Given the description of an element on the screen output the (x, y) to click on. 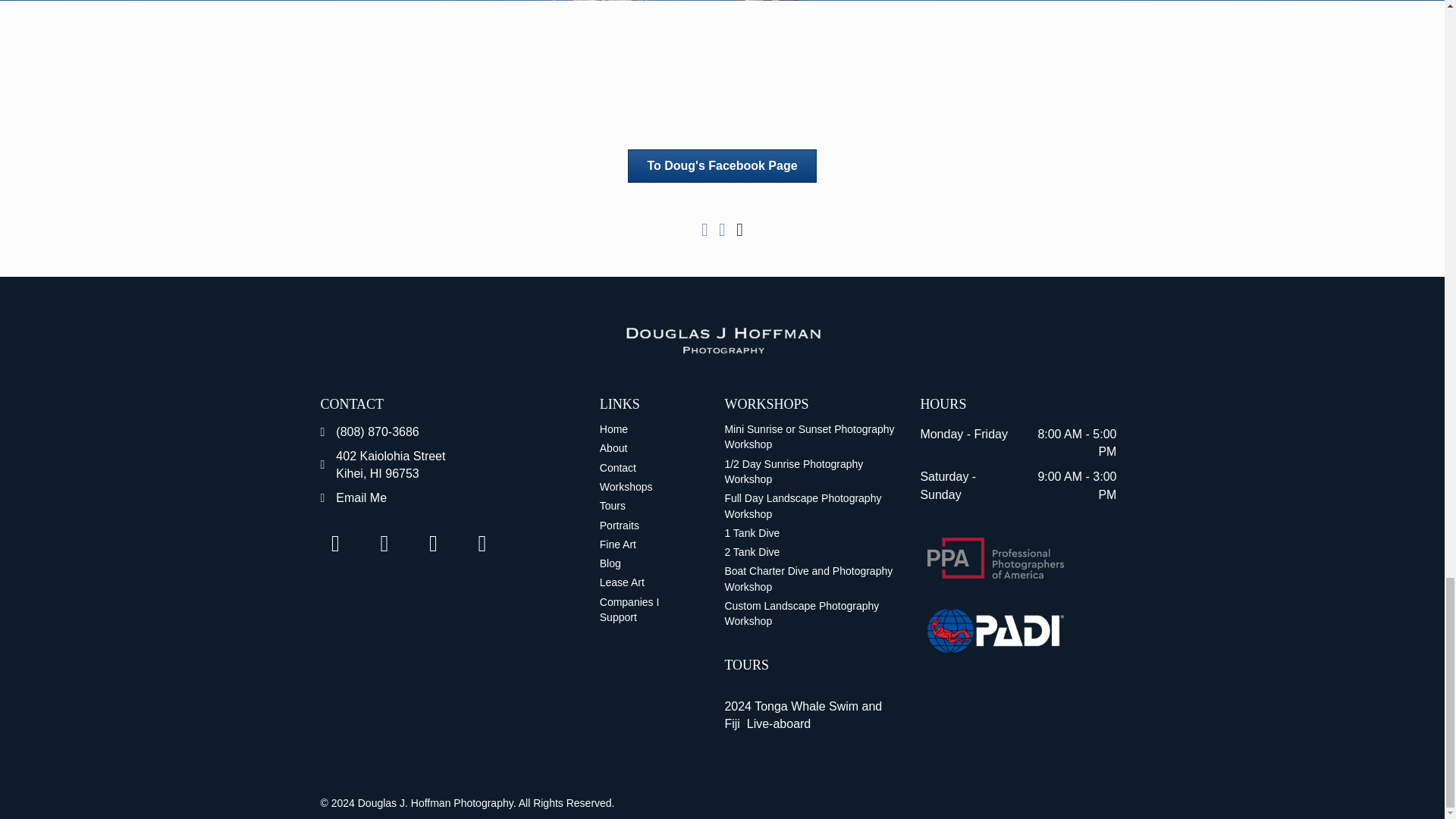
Instagram (482, 543)
To Doug's Facebook Page (721, 165)
About (646, 447)
Workshops (646, 486)
Blog (646, 563)
Home (646, 428)
maui-photography-douglas-hoffman (721, 339)
YouTube (390, 464)
Fine Art (432, 543)
Tours (646, 544)
Contact (646, 505)
Email Me (646, 467)
Portraits (361, 497)
Facebook (646, 525)
